Given the description of an element on the screen output the (x, y) to click on. 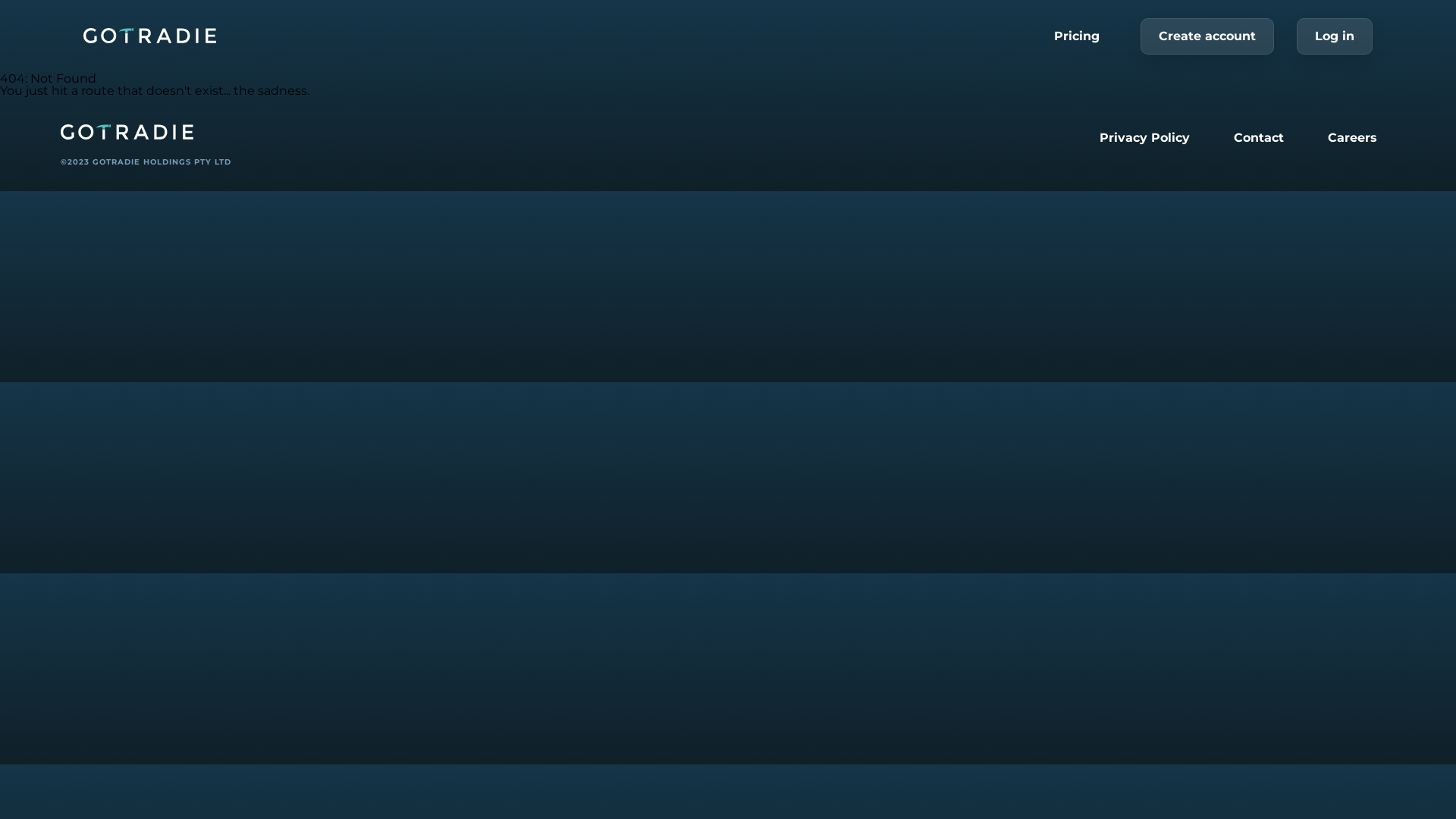
Privacy Policy Element type: text (1144, 137)
Careers Element type: text (1352, 137)
Create account Element type: text (1207, 36)
Contact Element type: text (1258, 137)
Log in Element type: text (1334, 36)
Pricing Element type: text (1076, 36)
